Given the description of an element on the screen output the (x, y) to click on. 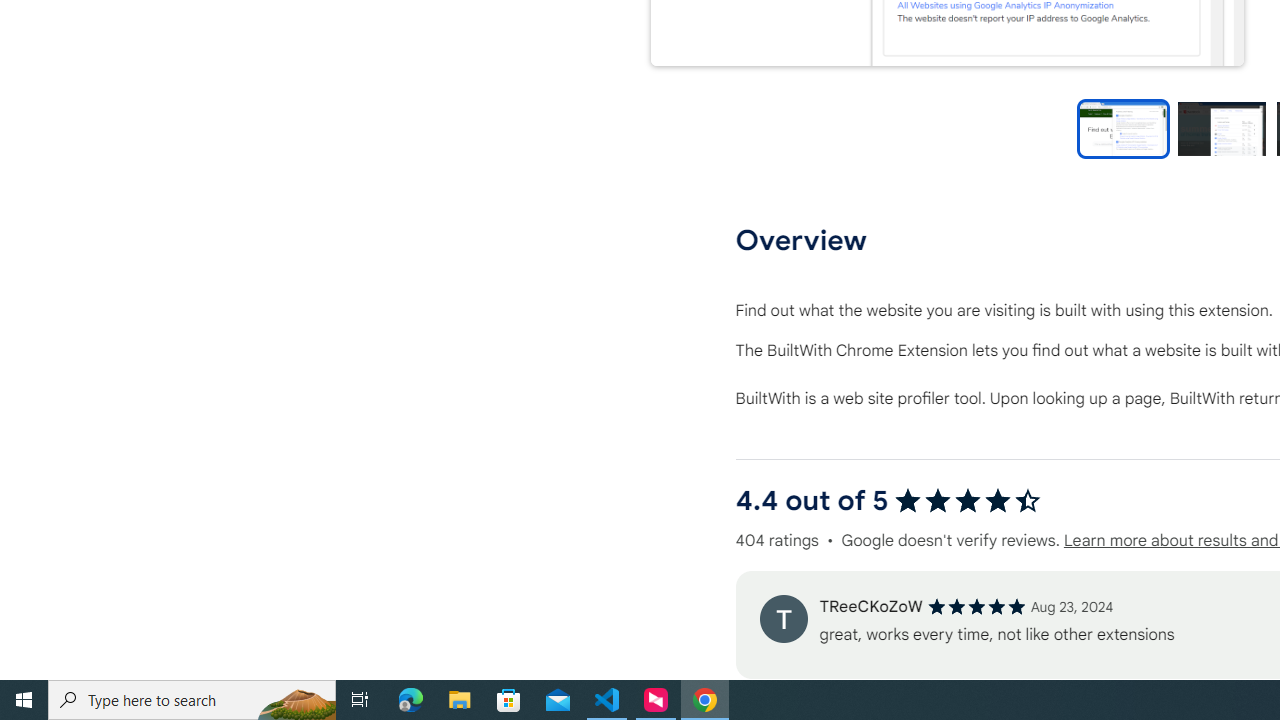
4.4 out of 5 stars (967, 500)
